Given the description of an element on the screen output the (x, y) to click on. 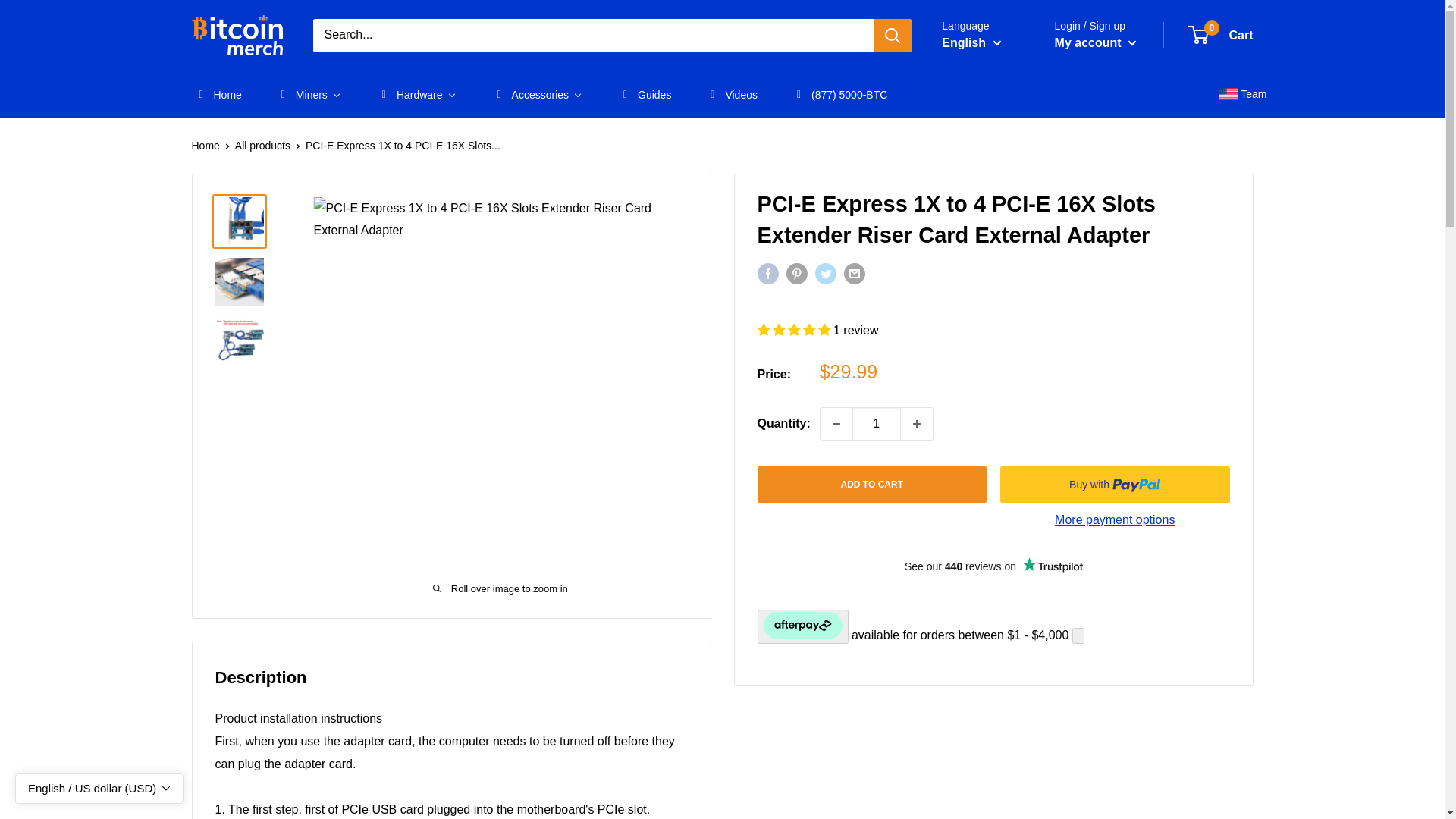
Decrease quantity by 1 (836, 423)
Increase quantity by 1 (917, 423)
1 (876, 423)
Customer reviews powered by Trustpilot (992, 565)
